Given the description of an element on the screen output the (x, y) to click on. 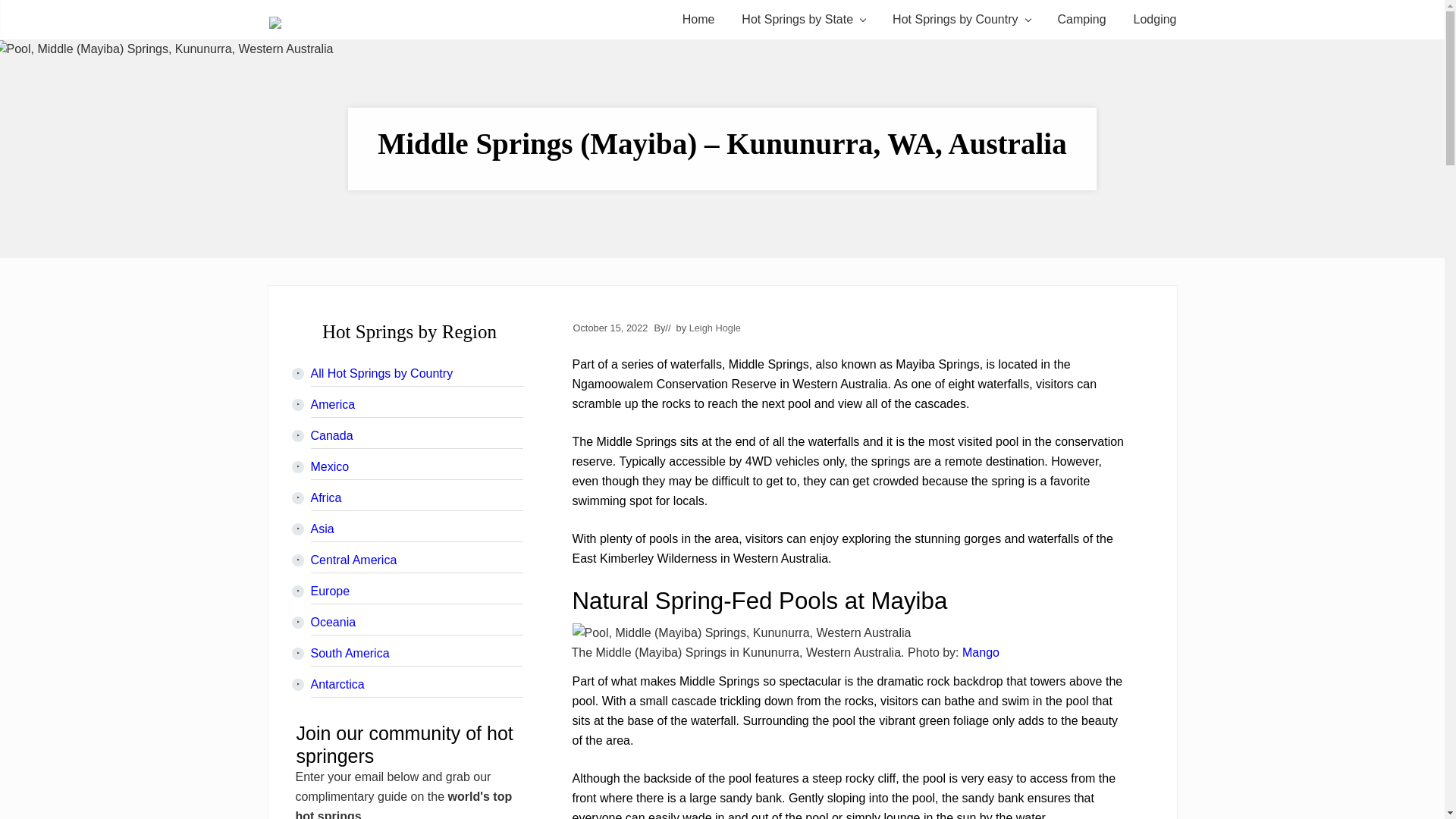
Hot Springs by Country (961, 19)
Hot Springs by State (803, 19)
Home (697, 19)
